Given the description of an element on the screen output the (x, y) to click on. 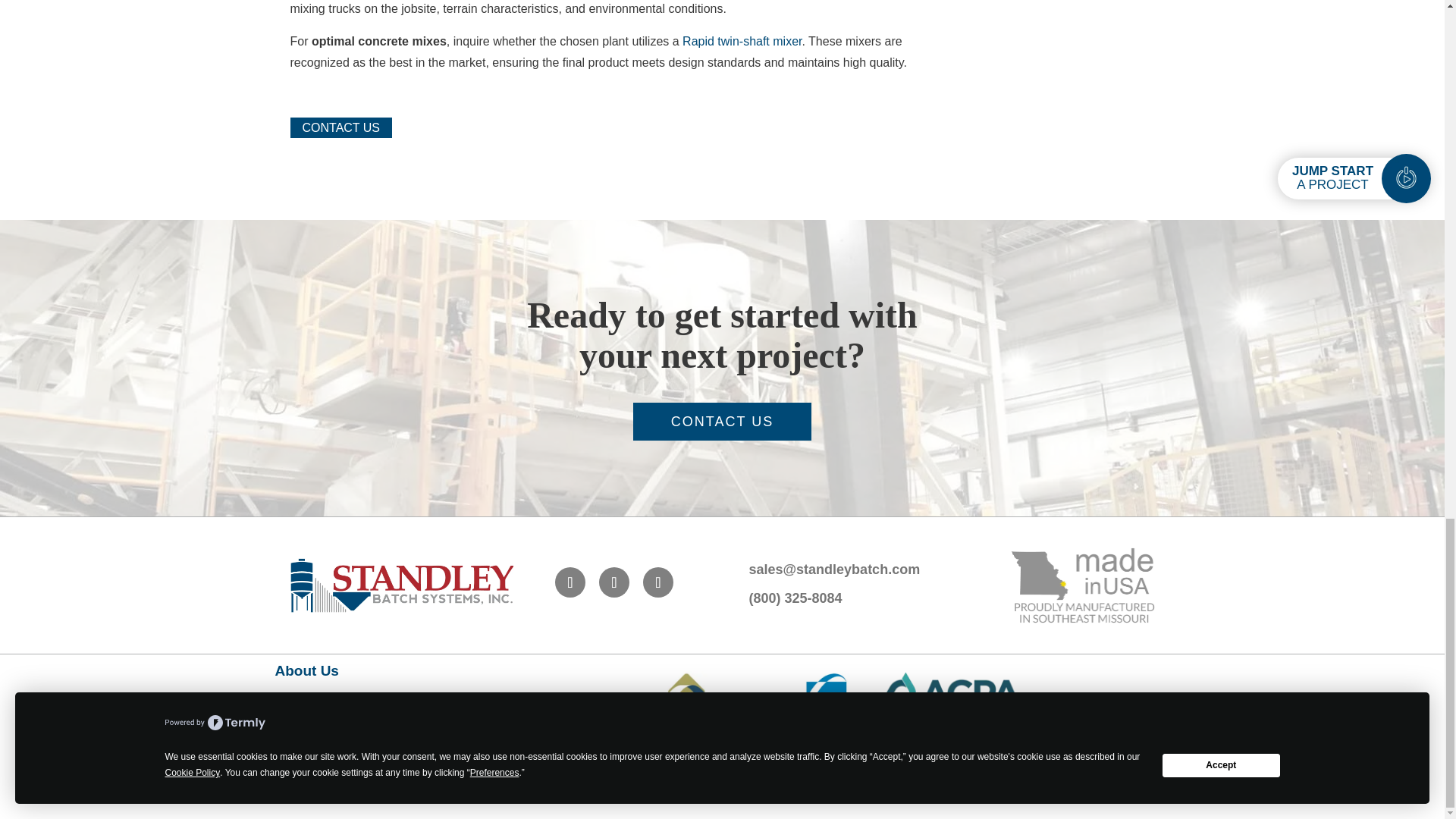
Follow on Facebook (569, 582)
Standley Batch Systems Inc. Logo (401, 584)
Follow on Youtube (657, 582)
Follow on LinkedIn (613, 582)
Standley Batch Systems Made In the USA (1082, 584)
